Given the description of an element on the screen output the (x, y) to click on. 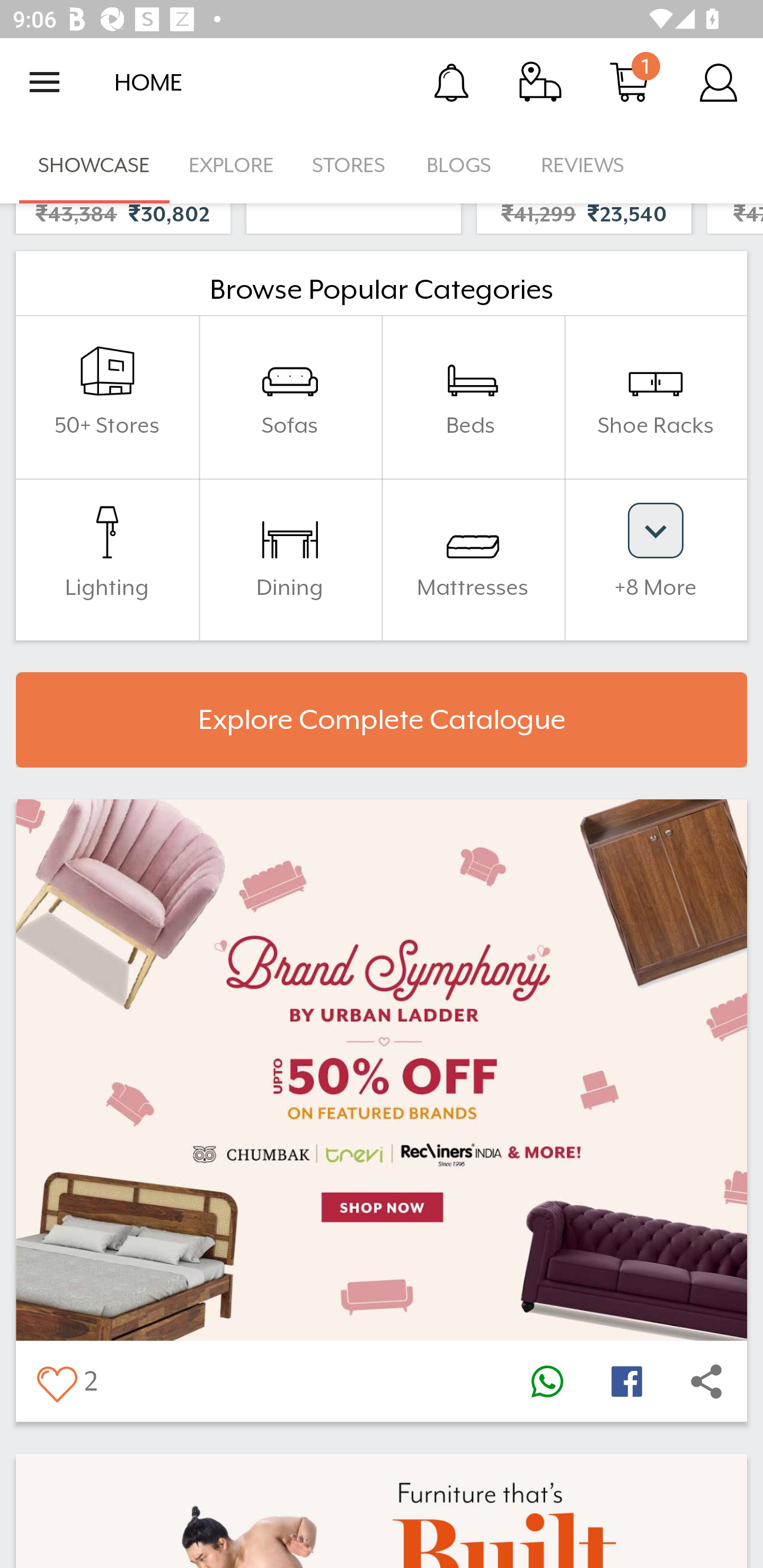
Open navigation drawer (44, 82)
Notification (450, 81)
Track Order (540, 81)
Cart (629, 81)
Account Details (718, 81)
SHOWCASE (94, 165)
EXPLORE (230, 165)
STORES (349, 165)
BLOGS (464, 165)
REVIEWS (582, 165)
₹43,384 ₹30,802 (123, 218)
₹41,299 ₹23,540 (583, 218)
50+ Stores (106, 397)
Sofas (289, 397)
Beds  (473, 397)
Shoe Racks (655, 397)
Lighting (106, 558)
Dining (289, 558)
Mattresses (473, 558)
 +8 More (655, 558)
Explore Complete Catalogue (381, 720)
 (55, 1381)
 (547, 1381)
 (626, 1381)
 (706, 1381)
